Given the description of an element on the screen output the (x, y) to click on. 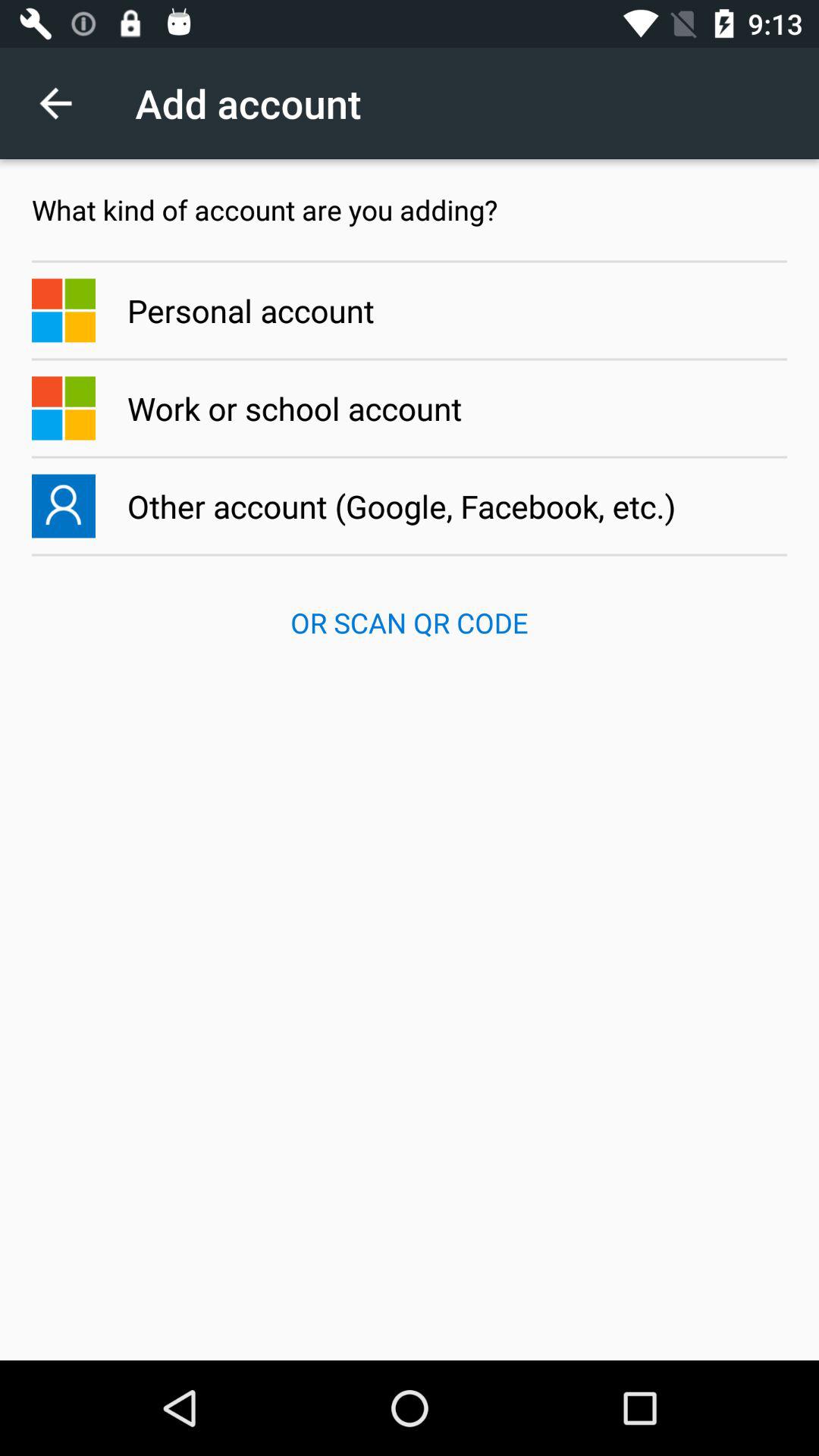
click personal account button (409, 310)
